Given the description of an element on the screen output the (x, y) to click on. 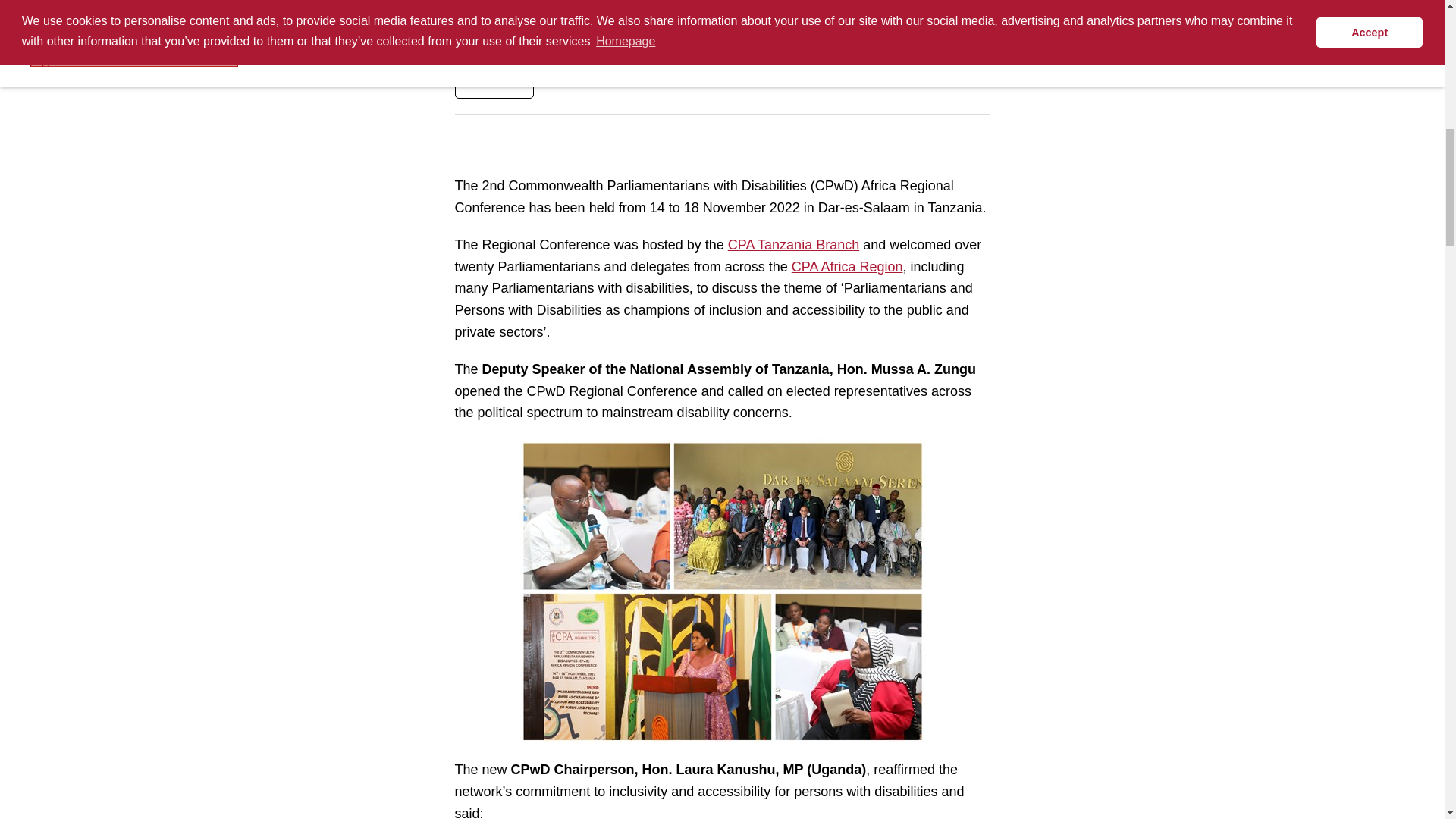
Share (494, 78)
Tanzania (793, 244)
Africa Region (847, 266)
